Given the description of an element on the screen output the (x, y) to click on. 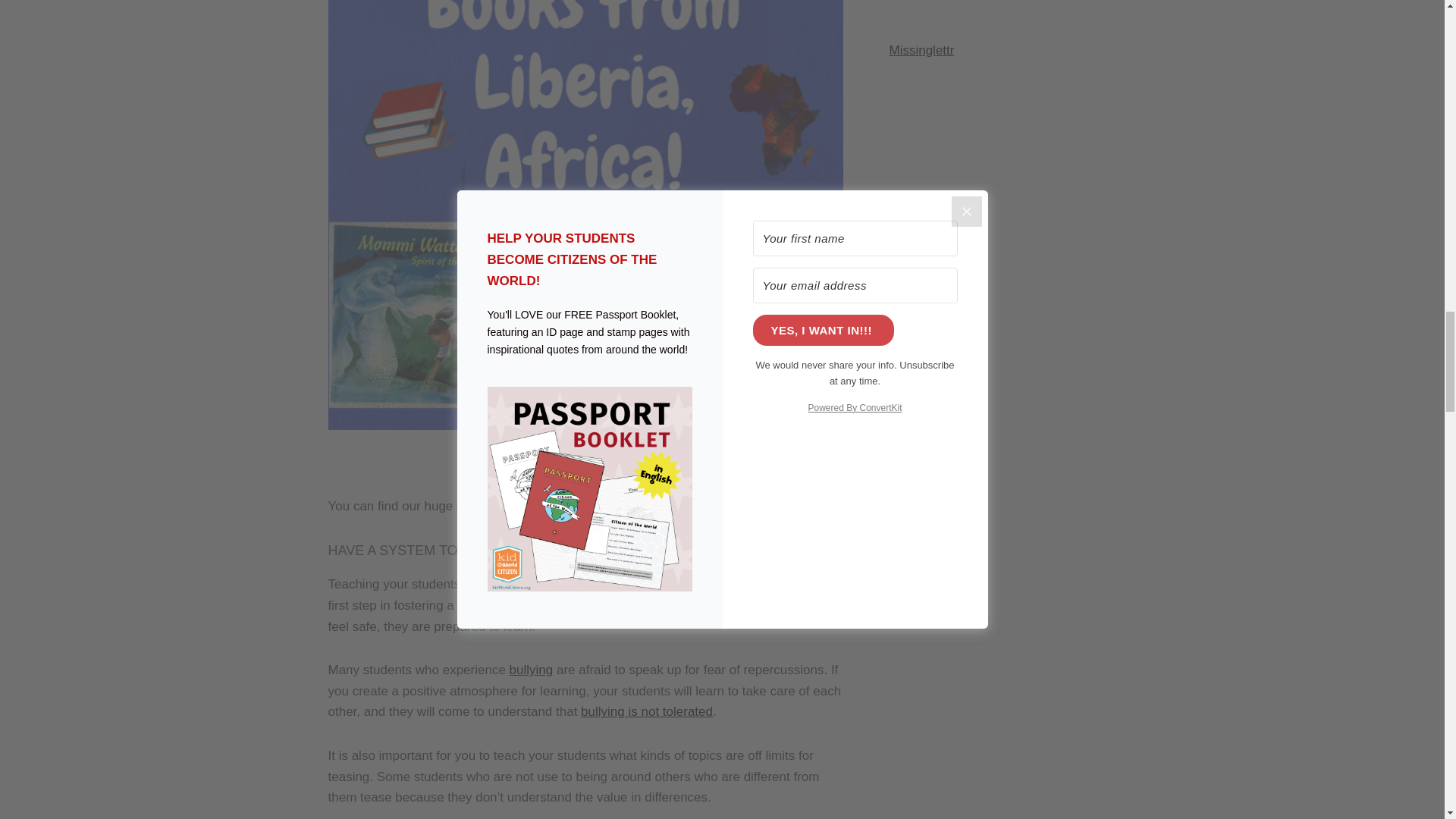
bullying is not tolerated (646, 711)
bullying (531, 669)
books from around the world (609, 505)
